Given the description of an element on the screen output the (x, y) to click on. 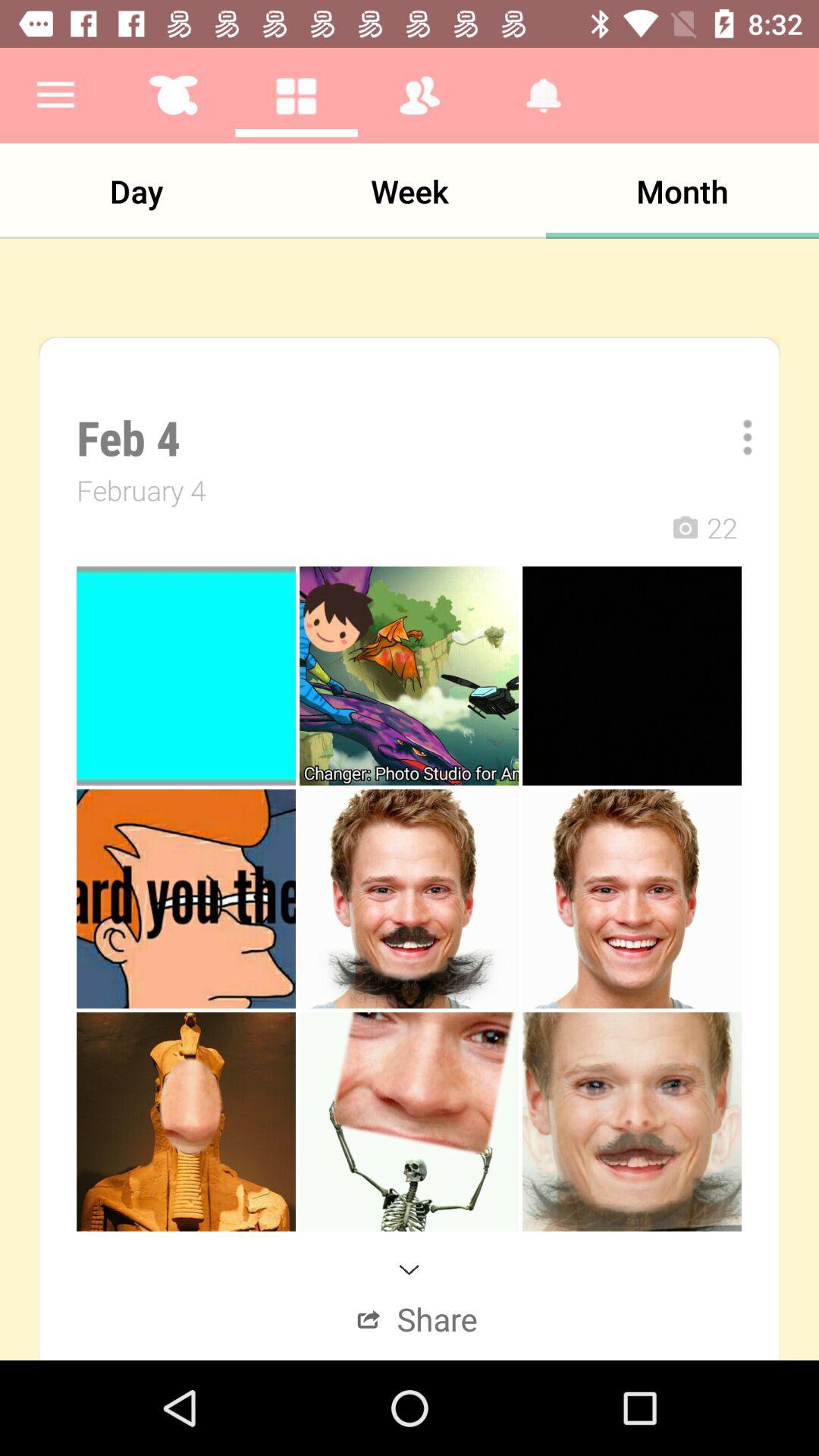
turn off the month (682, 190)
